Given the description of an element on the screen output the (x, y) to click on. 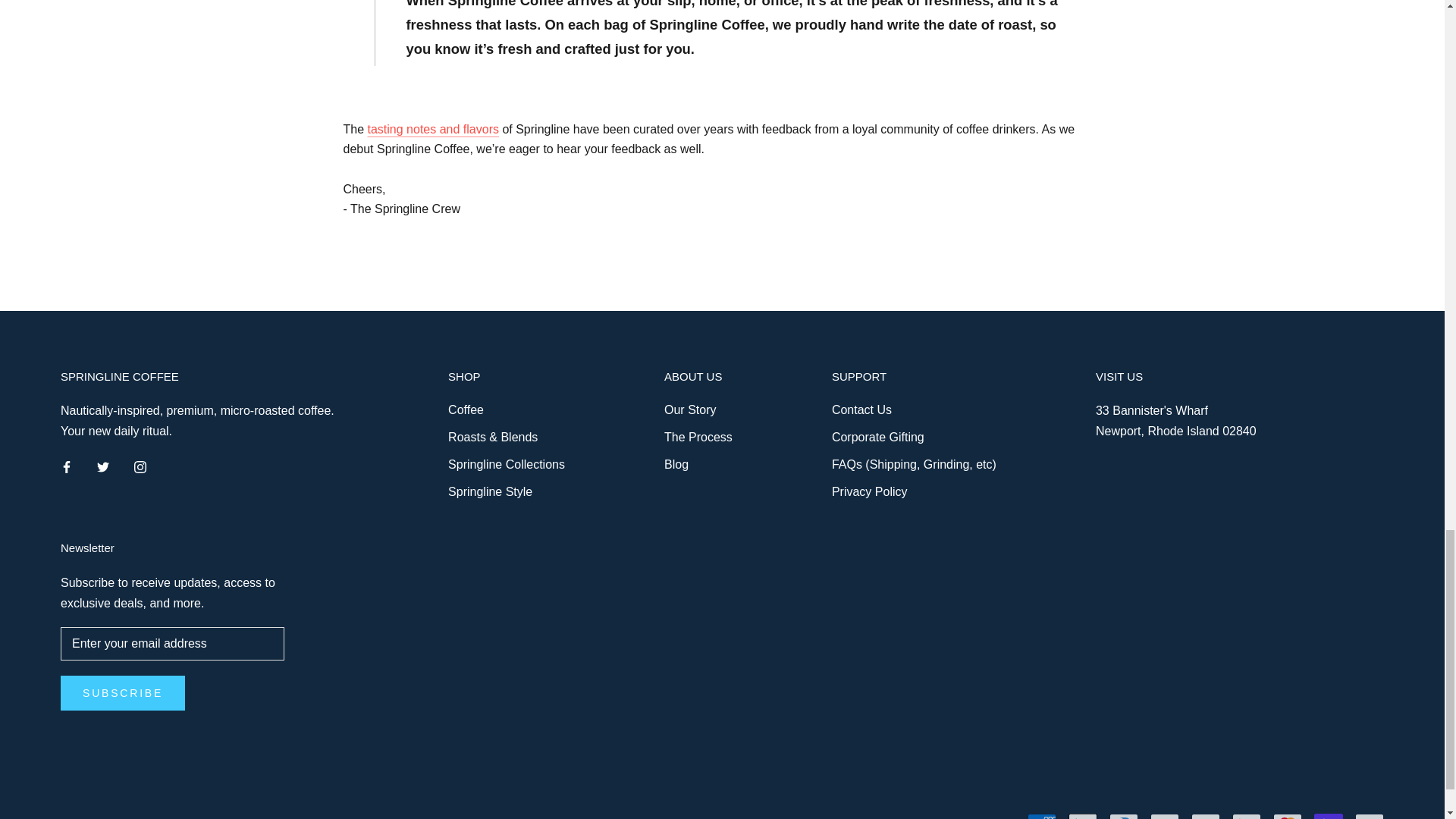
Apple Pay (1082, 816)
Visa (1369, 816)
Discover (1164, 816)
American Express (1042, 816)
Mastercard (1286, 816)
Google Pay (1245, 816)
Meta Pay (1205, 816)
Shop Pay (1328, 816)
Diners Club (1123, 816)
tasting notes and flavors (433, 128)
